Given the description of an element on the screen output the (x, y) to click on. 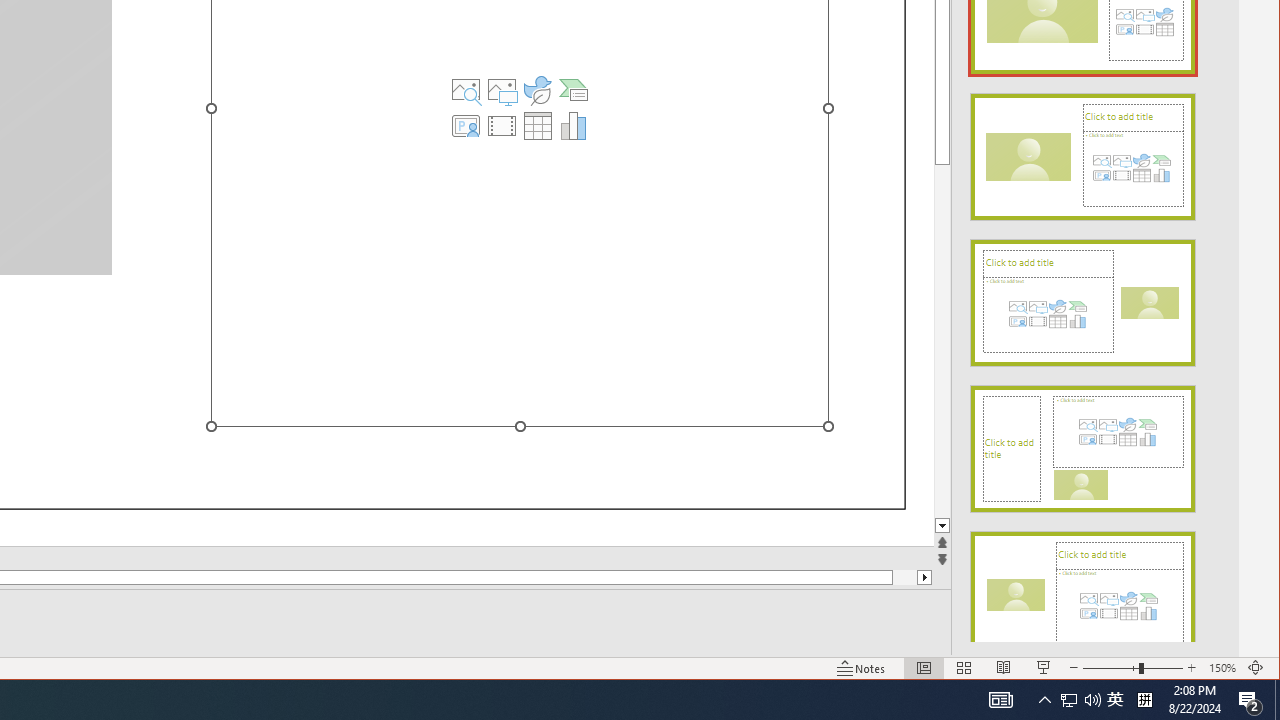
Insert Chart (574, 125)
